Given the description of an element on the screen output the (x, y) to click on. 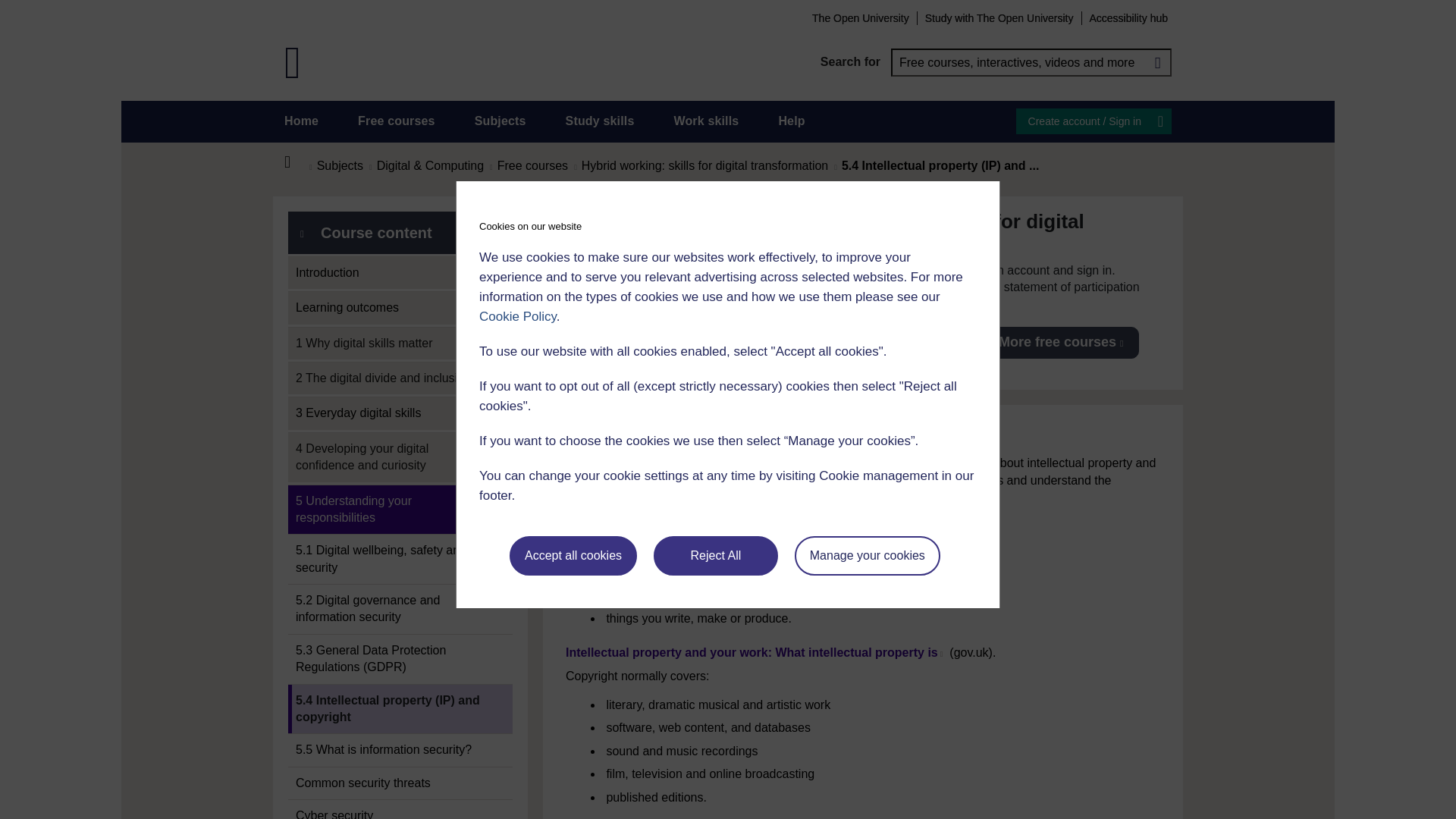
Help (791, 120)
Accept all cookies (573, 555)
Free courses (396, 120)
Reject All (715, 555)
Study with The Open University (999, 17)
The Open University (860, 17)
Home (295, 162)
Study skills (600, 120)
Work skills (705, 120)
Home (300, 120)
Subjects (499, 120)
Accessibility hub (1129, 17)
Manage your cookies (867, 555)
Search (1157, 62)
Cookie Policy (517, 316)
